Given the description of an element on the screen output the (x, y) to click on. 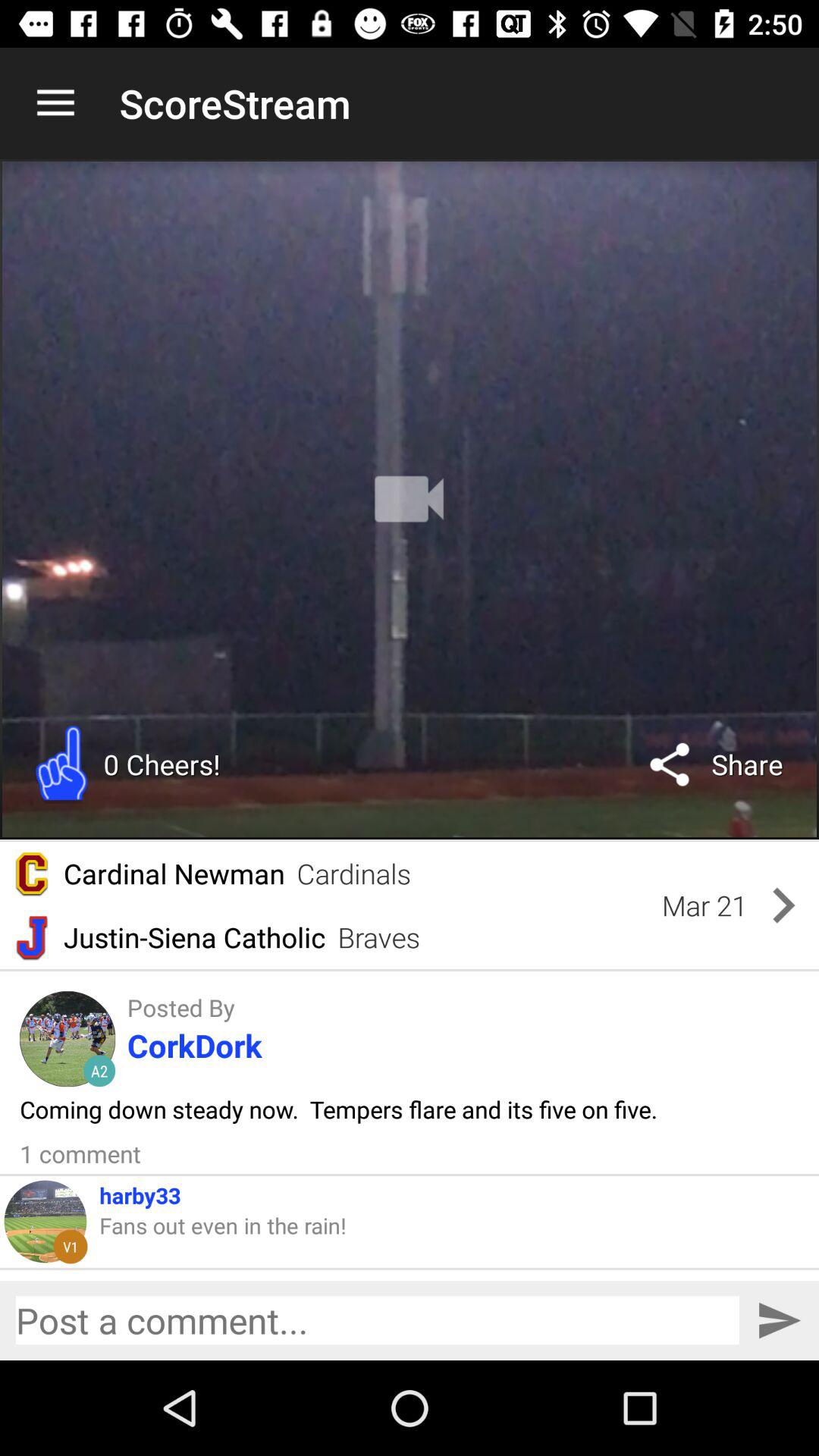
go to play (409, 499)
